Given the description of an element on the screen output the (x, y) to click on. 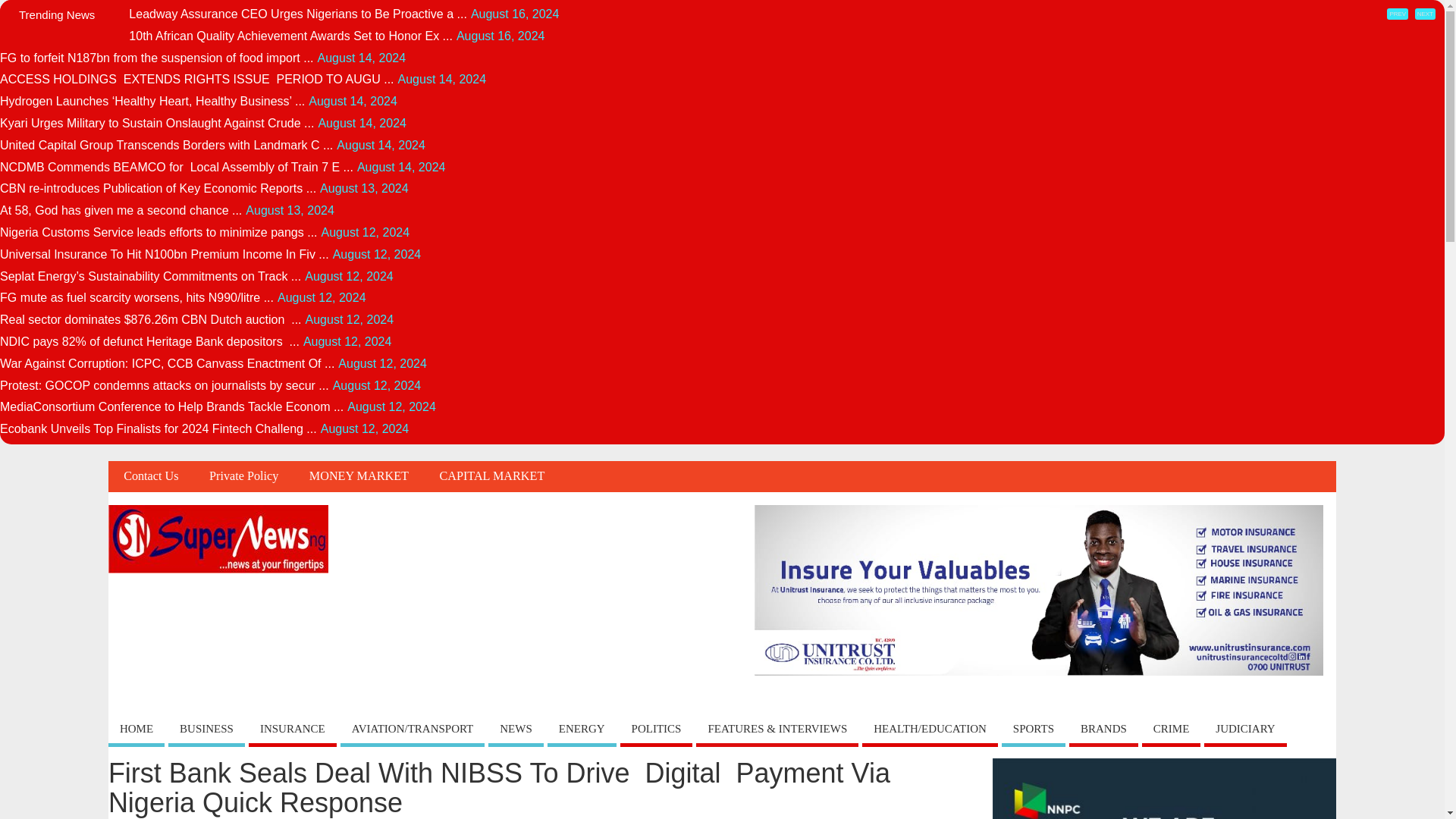
CBN re-introduces Publication of Key Economic Reports ... (157, 187)
MediaConsortium Conference to Help Brands Tackle Econom ... (171, 406)
FG to forfeit N187bn from the suspension of food import ... (157, 57)
10th African Quality Achievement Awards Set to Honor Ex ... (290, 35)
Kyari Urges Military to Sustain Onslaught Against Crude ... (157, 123)
Ecobank Unveils Top Finalists for 2024 Fintech Challeng ... (158, 428)
Leadway Assurance CEO Urges Nigerians to Be Proactive a ... (298, 13)
NCDMB Commends BEAMCO for  Local Assembly of Train 7 E ... (176, 166)
Contact Us (150, 476)
War Against Corruption: ICPC, CCB Canvass Enactment Of ... (167, 363)
